Given the description of an element on the screen output the (x, y) to click on. 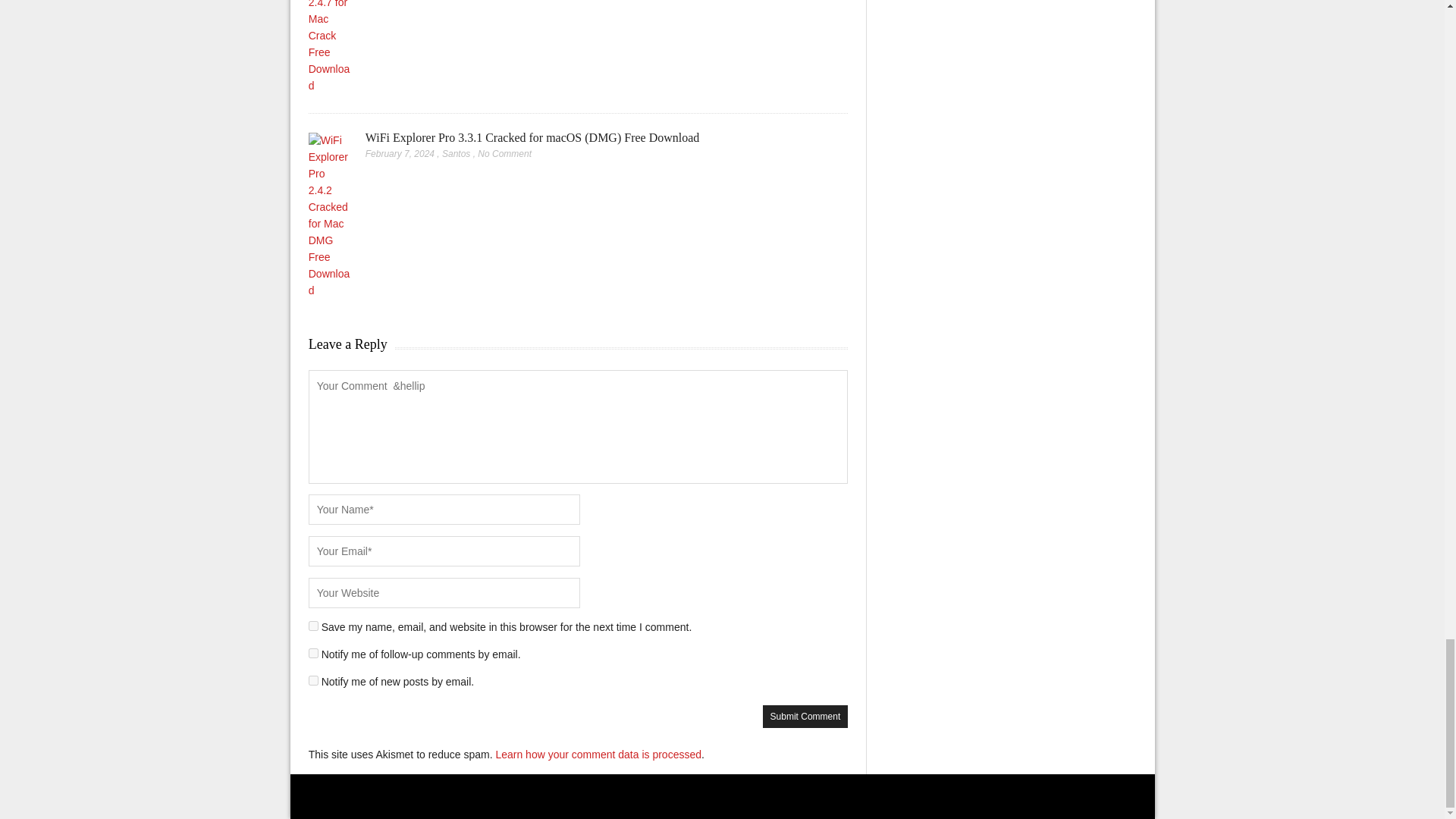
subscribe (313, 680)
Submit Comment (805, 716)
yes (313, 625)
Posts by Santos (456, 153)
subscribe (313, 653)
